Given the description of an element on the screen output the (x, y) to click on. 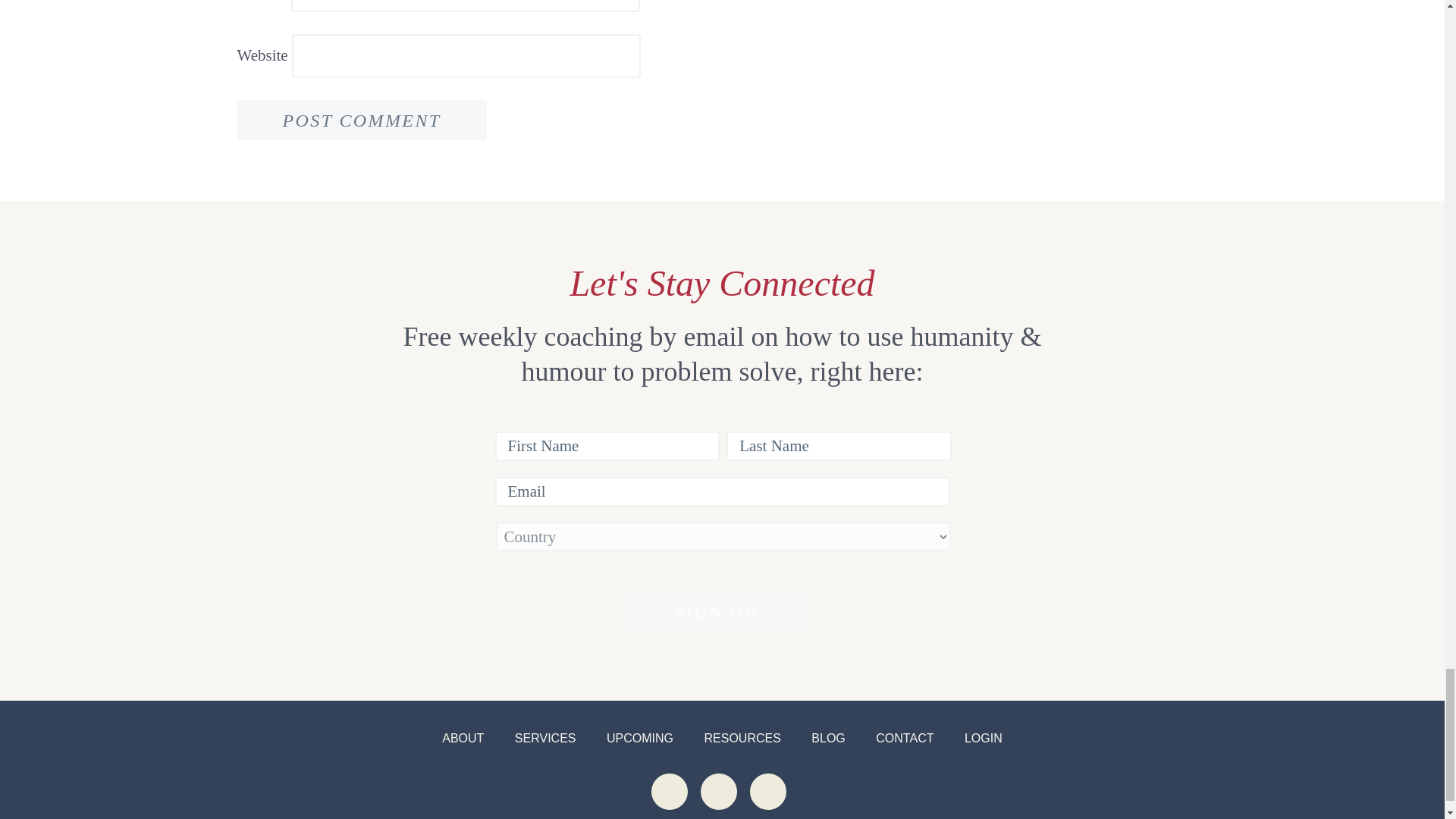
Sign Up (715, 612)
Post Comment (360, 119)
Post Comment (360, 119)
SERVICES (545, 738)
Sign Up (715, 612)
ABOUT (462, 738)
